Given the description of an element on the screen output the (x, y) to click on. 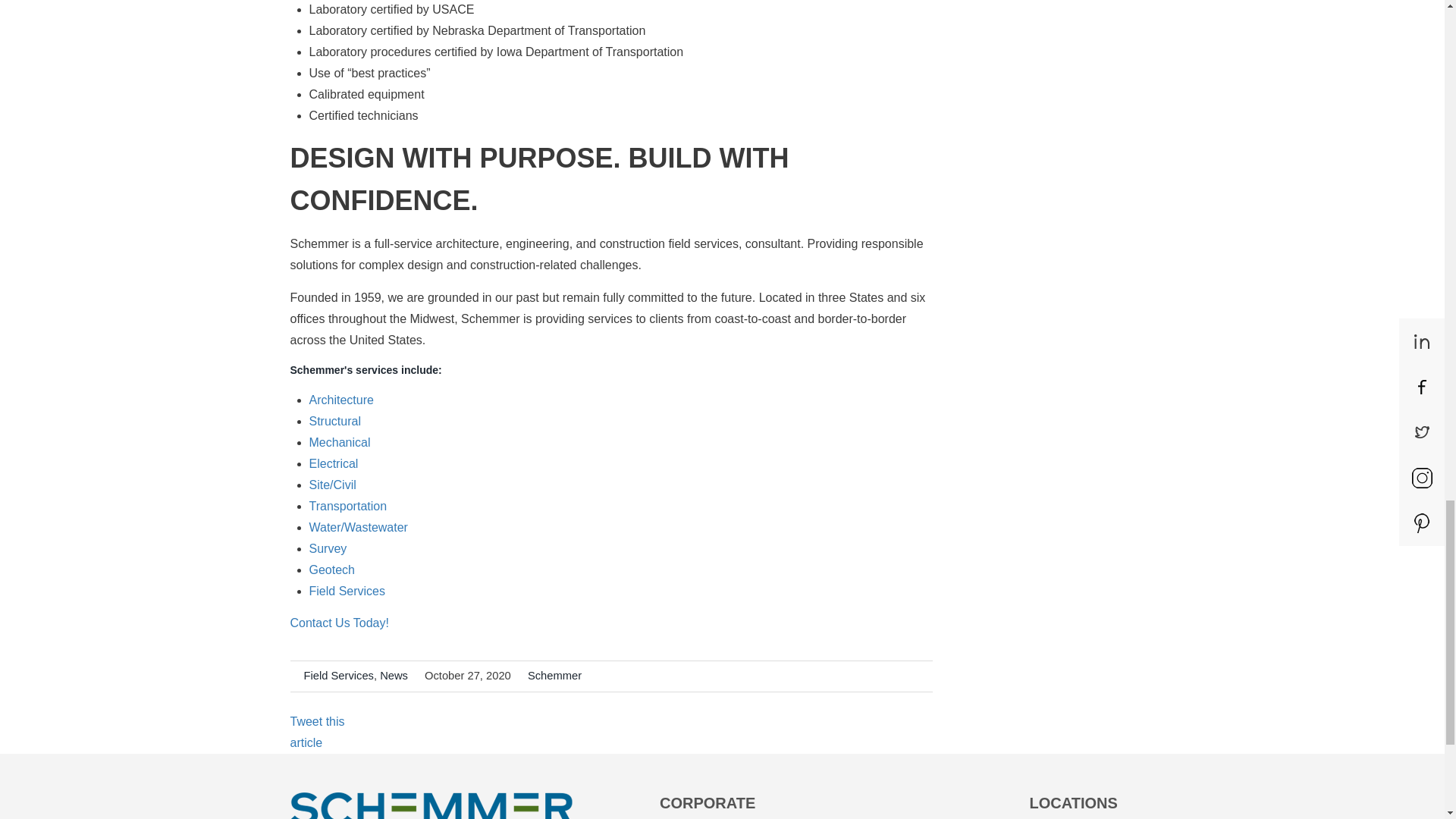
Posts by Schemmer (553, 675)
